Given the description of an element on the screen output the (x, y) to click on. 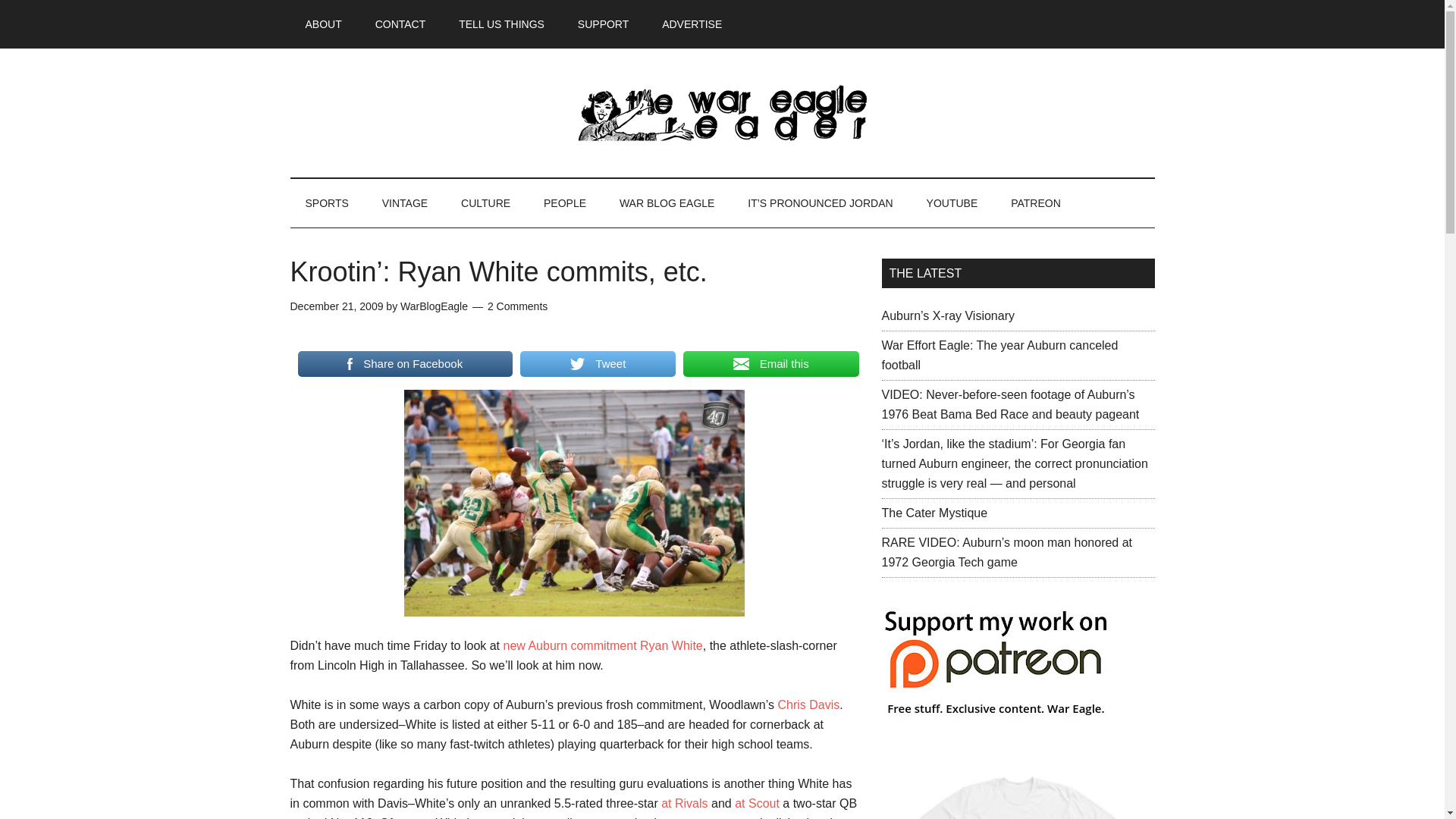
YOUTUBE (951, 203)
PEOPLE (564, 203)
SPORTS (325, 203)
WAR BLOG EAGLE (667, 203)
Tweet (597, 363)
ABOUT (322, 24)
WarBlogEagle (433, 306)
2 Comments (517, 306)
PATREON (1035, 203)
CULTURE (485, 203)
